Given the description of an element on the screen output the (x, y) to click on. 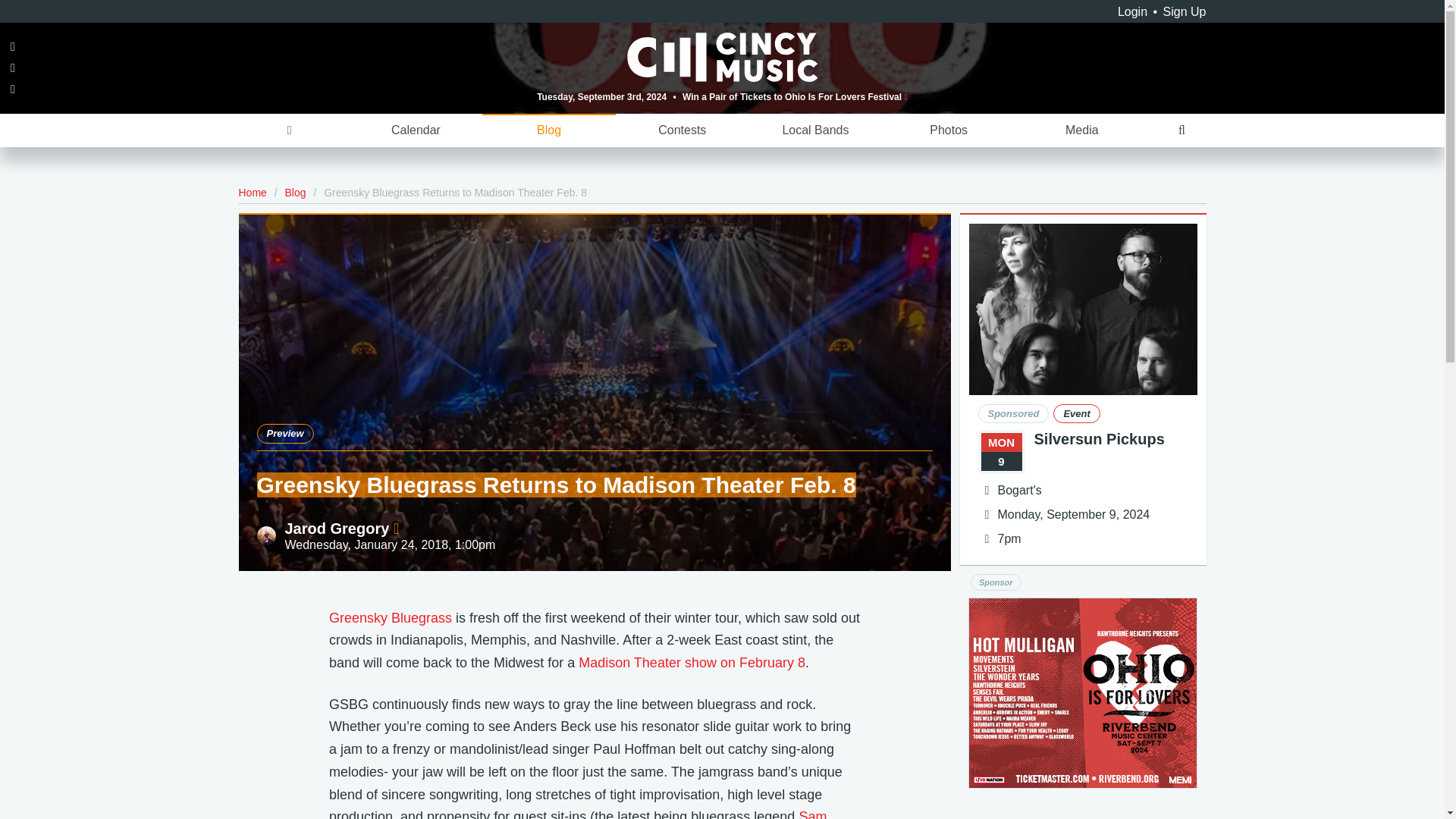
Contests (682, 130)
Greensky Bluegrass (390, 616)
Win a Pair of Tickets to Ohio Is For Lovers Festival  (794, 95)
Jarod Gregory  (341, 528)
Sam Bush (578, 814)
Calendar (416, 130)
Home (252, 192)
Media (1081, 130)
Login (1132, 11)
Local Bands (815, 130)
